Given the description of an element on the screen output the (x, y) to click on. 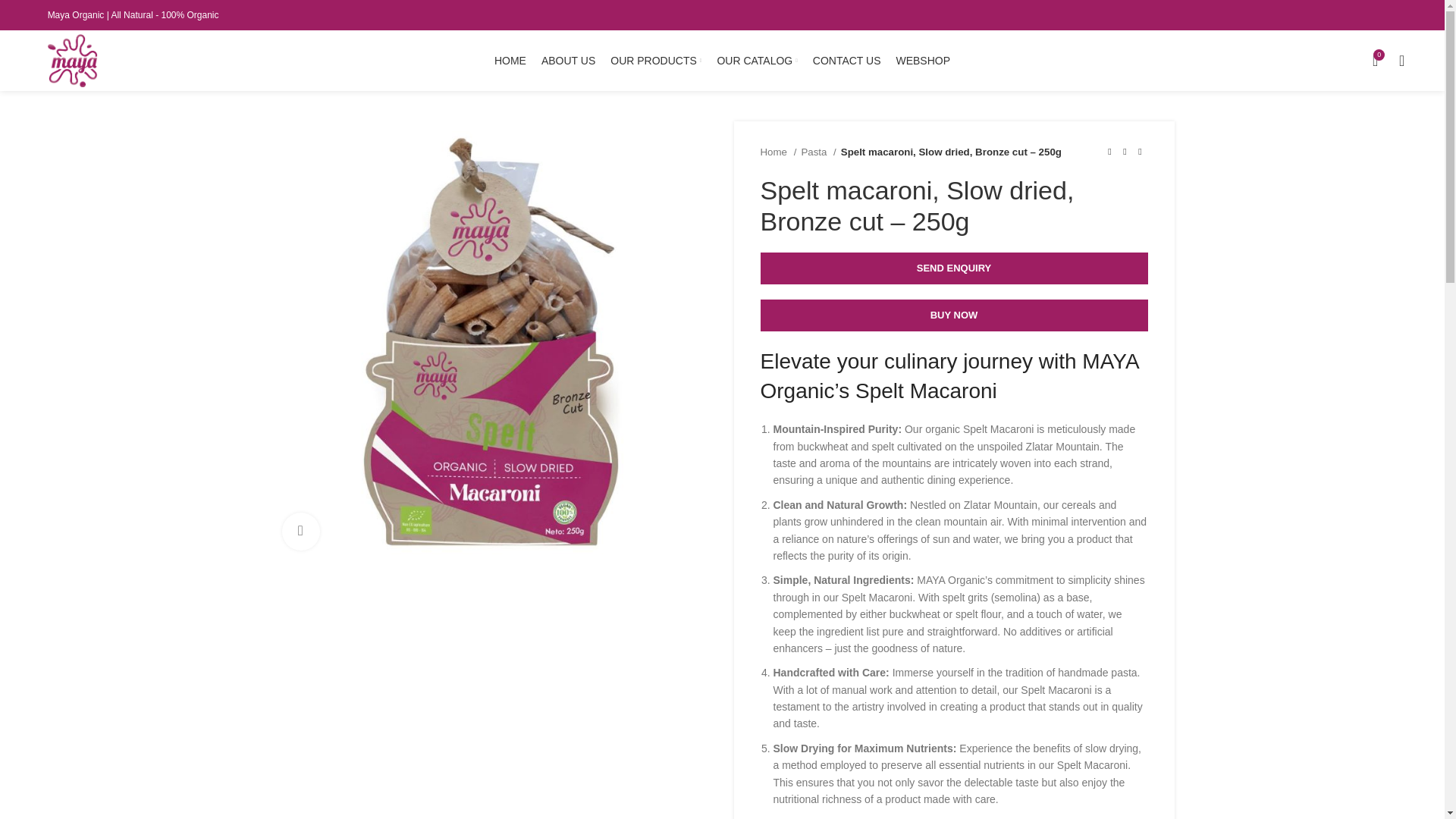
WEBSHOP (922, 60)
OUR CATALOG (756, 60)
Home (778, 151)
BUY NOW (953, 315)
CONTACT US (846, 60)
SEND ENQUIRY (953, 268)
ABOUT US (568, 60)
Pasta (817, 151)
HOME (510, 60)
